Given the description of an element on the screen output the (x, y) to click on. 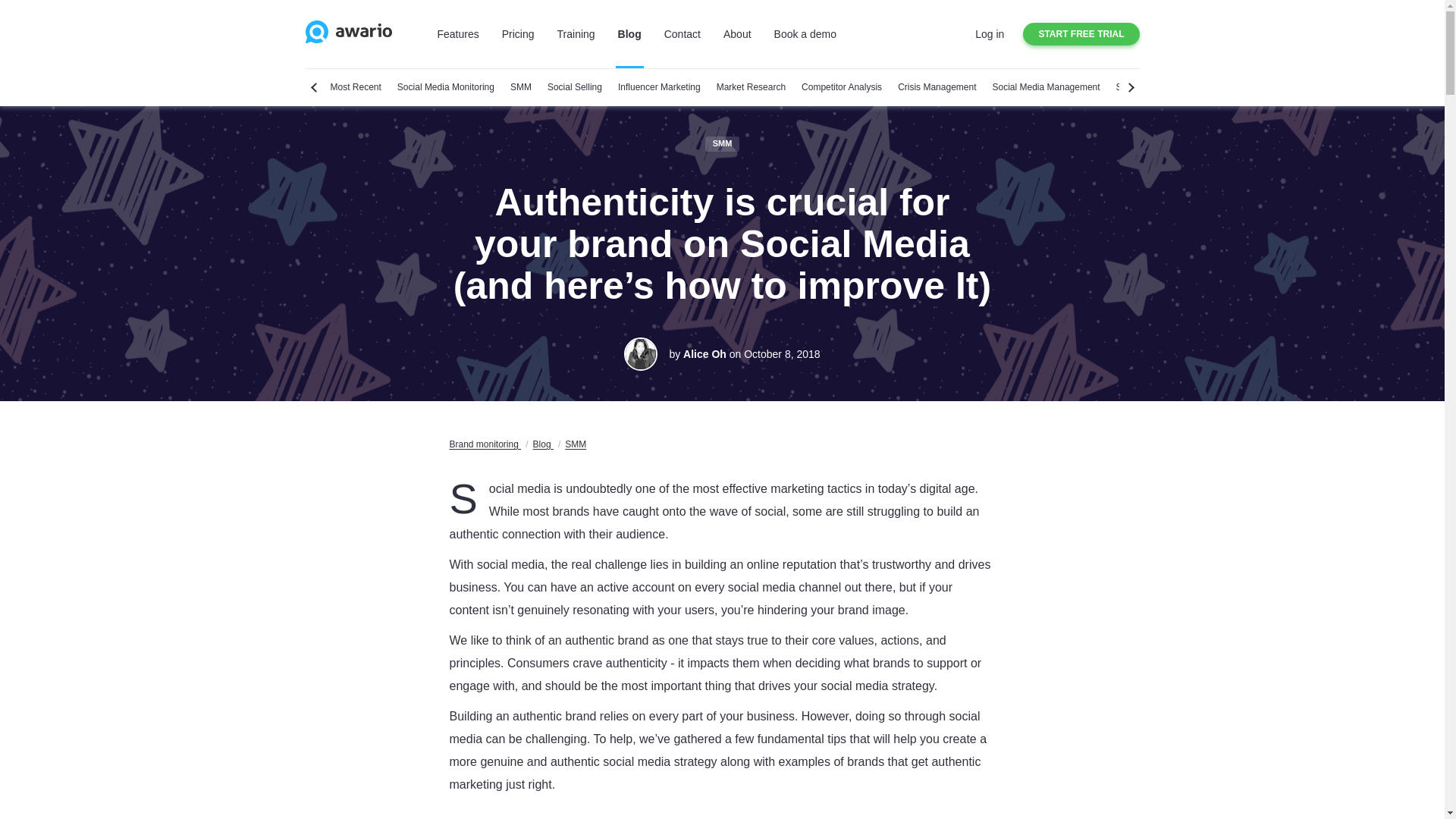
Crisis Management (936, 87)
Book a demo (805, 33)
Brand monitoring (542, 443)
Brand monitoring (575, 443)
Most Recent (355, 87)
Social Selling (575, 87)
SMM (520, 87)
Log in (989, 33)
Previous (314, 87)
Social Media Trends (1158, 87)
